Given the description of an element on the screen output the (x, y) to click on. 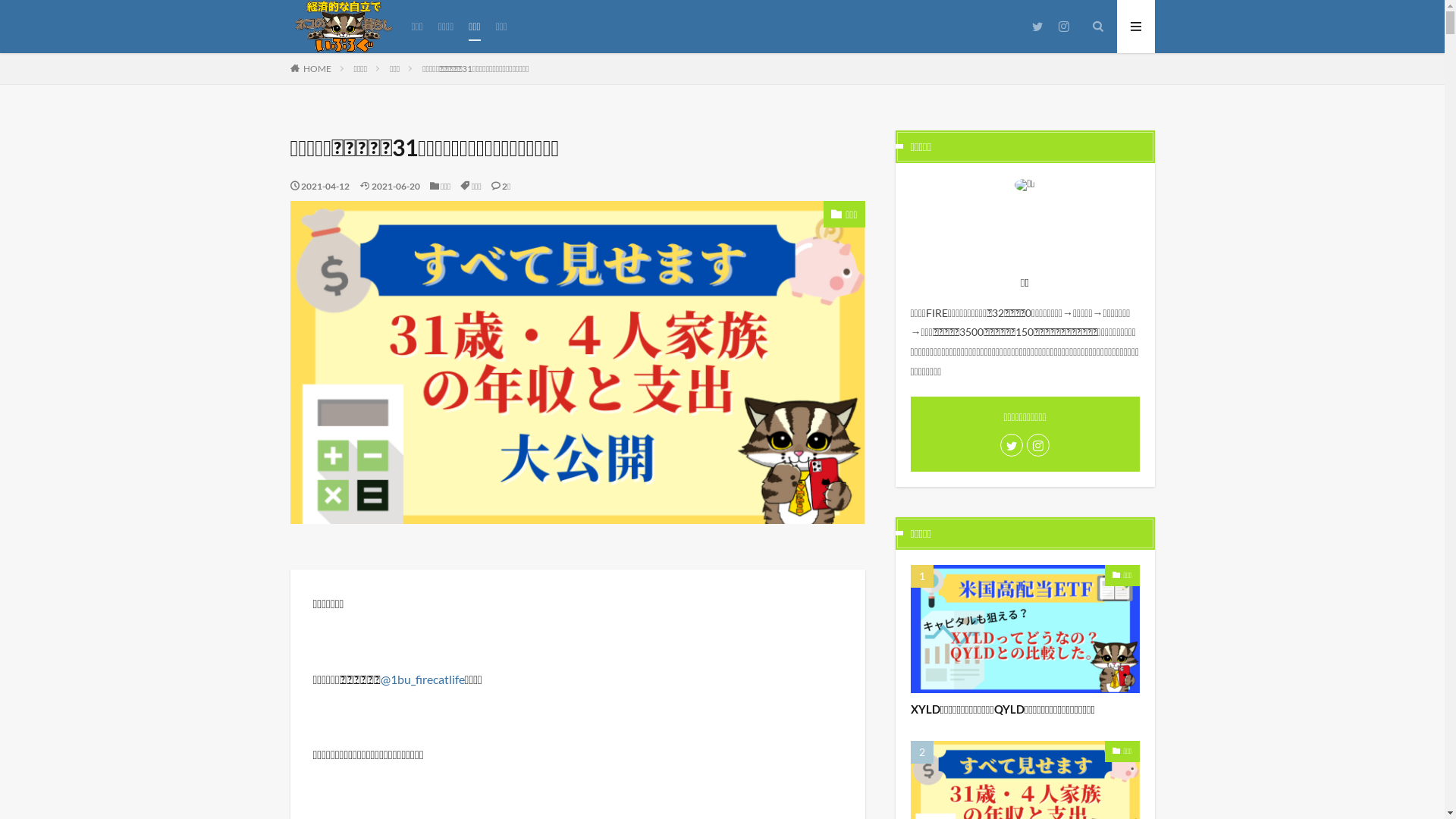
HOME Element type: text (317, 68)
@1bu_firecatlife Element type: text (422, 678)
search Element type: text (716, 191)
